Given the description of an element on the screen output the (x, y) to click on. 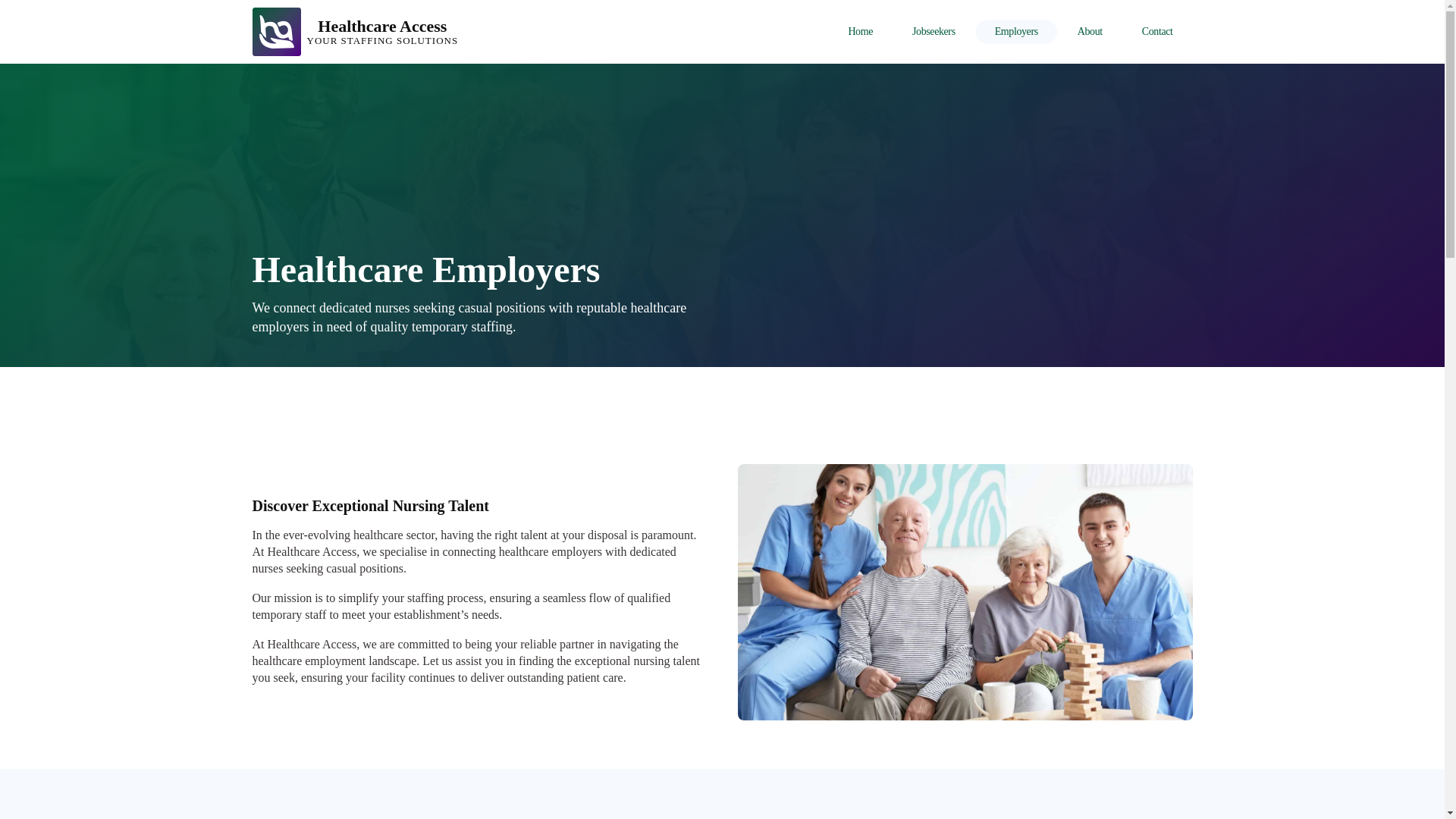
About (1089, 31)
Home (859, 31)
Employers (354, 31)
Contact (1016, 31)
Jobseekers (1157, 31)
